Given the description of an element on the screen output the (x, y) to click on. 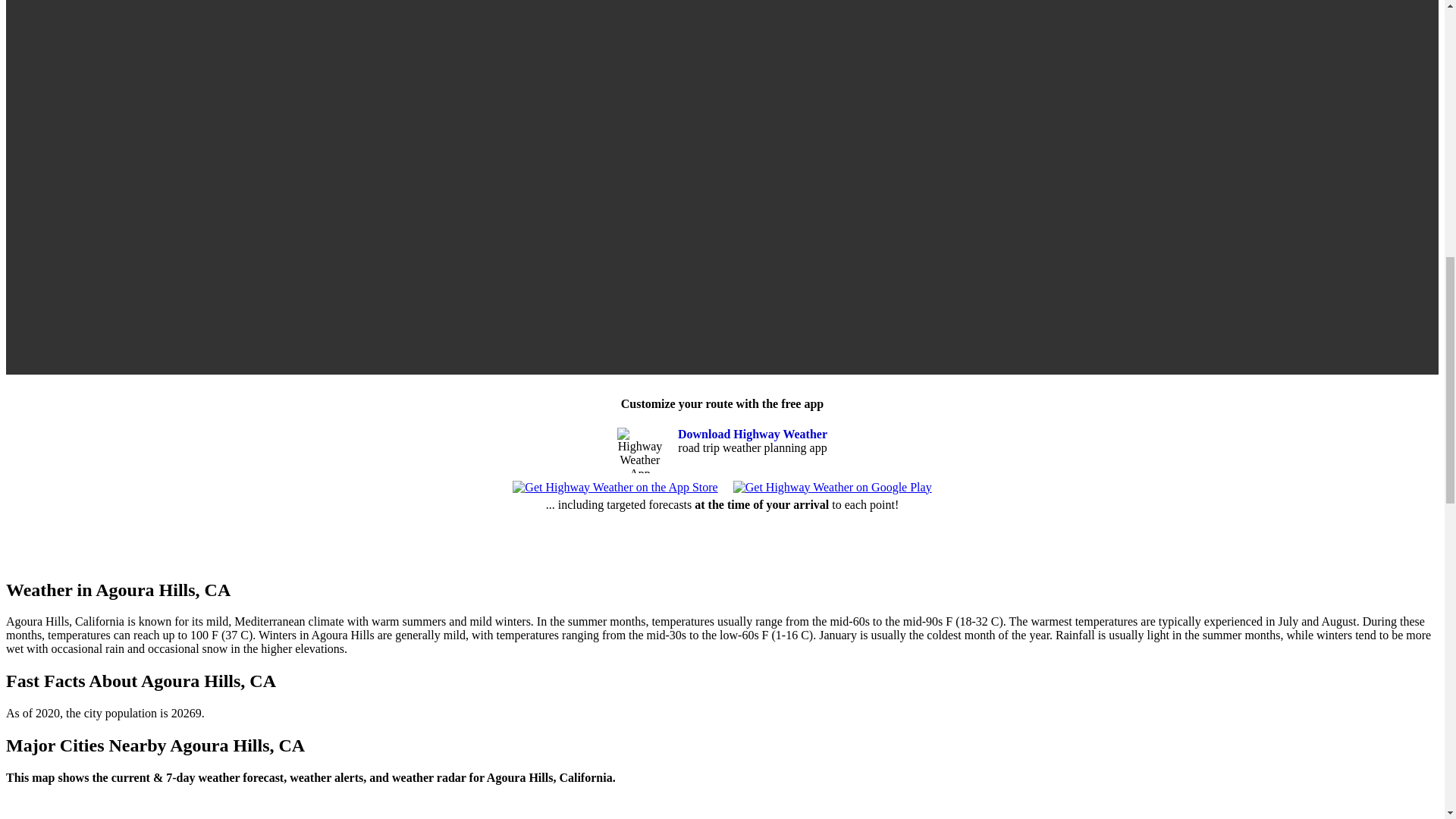
Highway Weather App (639, 450)
Get Highway Weather on the App Store (614, 487)
Get Highway Weather on Google Play (832, 487)
